Given the description of an element on the screen output the (x, y) to click on. 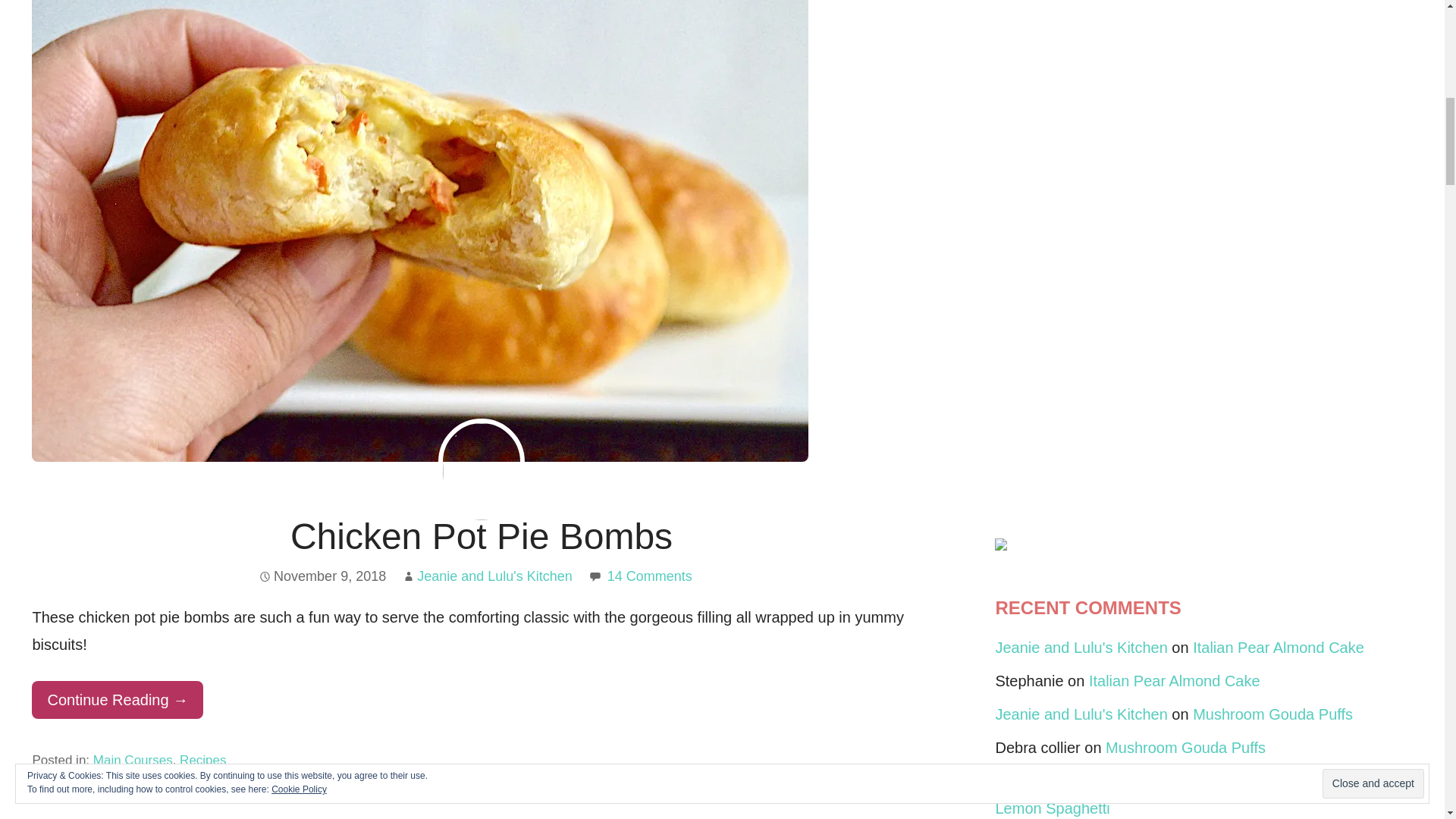
Jeanie and Lulu's Kitchen (494, 575)
14 Comments (650, 575)
Posts by Jeanie and Lulu's Kitchen (494, 575)
Recipes (202, 759)
Chicken (178, 783)
Biscuits (125, 783)
Chicken Pot Pie Bombs (480, 536)
chicken pot pie (252, 783)
Main Courses (133, 759)
